Given the description of an element on the screen output the (x, y) to click on. 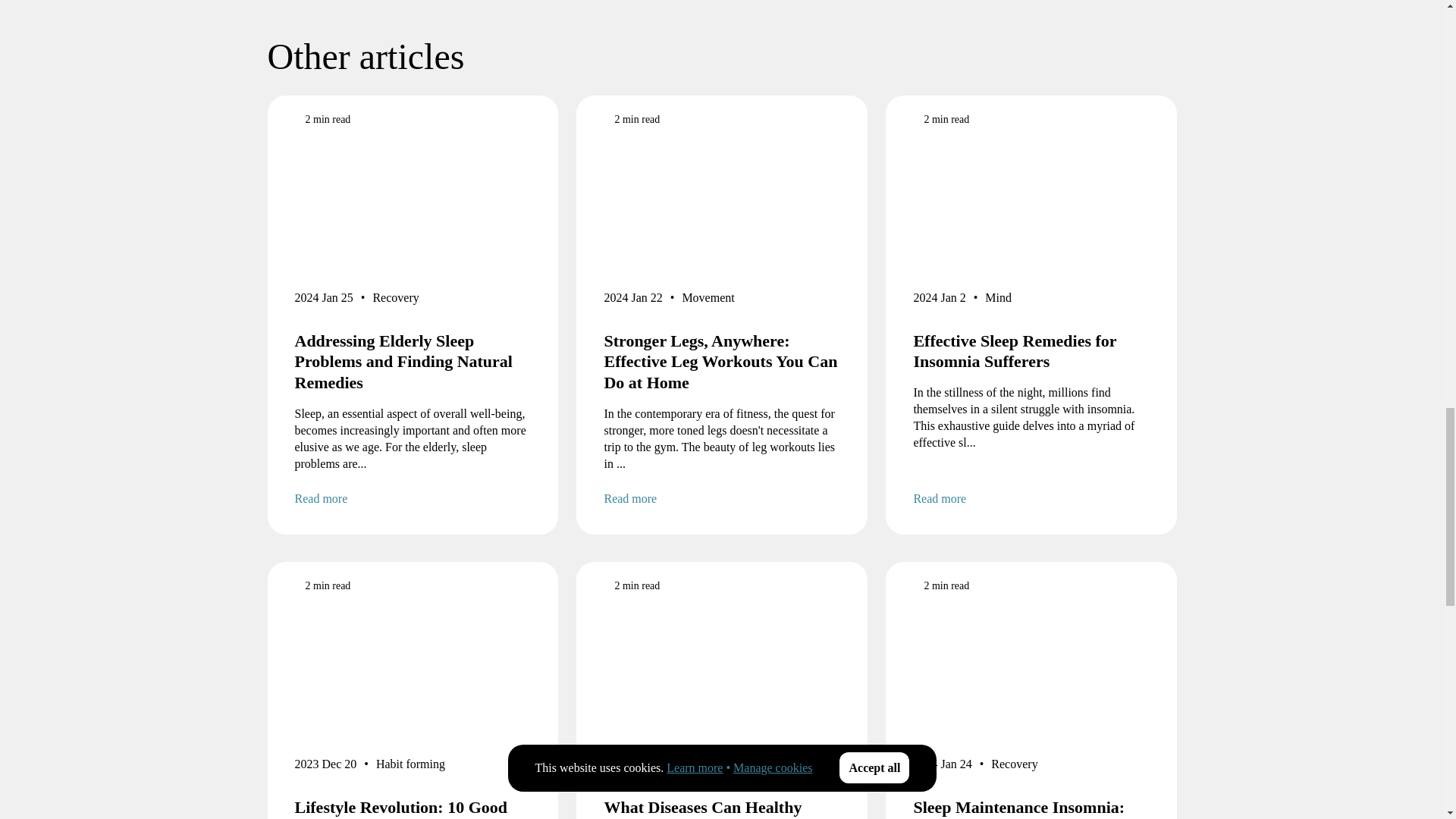
Read more (412, 498)
Read more (1031, 498)
Recovery (395, 300)
Mind (998, 300)
Lifestyle Revolution: 10 Good Habits for a Better Life (412, 807)
Movement (707, 300)
Effective Sleep Remedies for Insomnia Sufferers (1031, 351)
Habit forming (410, 766)
